Given the description of an element on the screen output the (x, y) to click on. 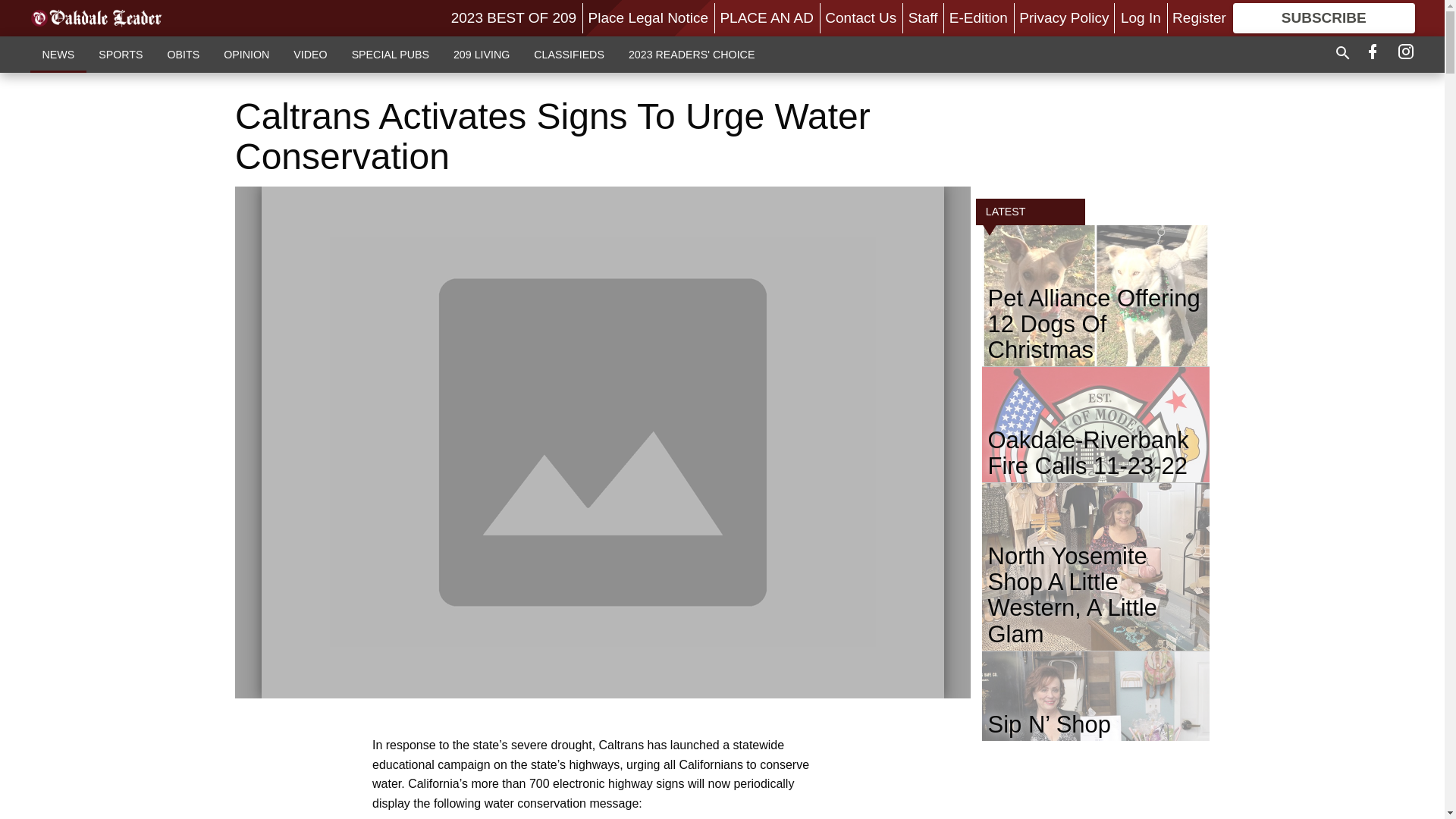
CLASSIFIEDS (568, 54)
Log In (1140, 17)
E-Edition (978, 17)
SPECIAL PUBS (390, 54)
SPORTS (119, 54)
Privacy Policy (1063, 17)
2023 READERS' CHOICE (691, 54)
SUBSCRIBE (1324, 18)
OPINION (246, 54)
209 LIVING (481, 54)
